Given the description of an element on the screen output the (x, y) to click on. 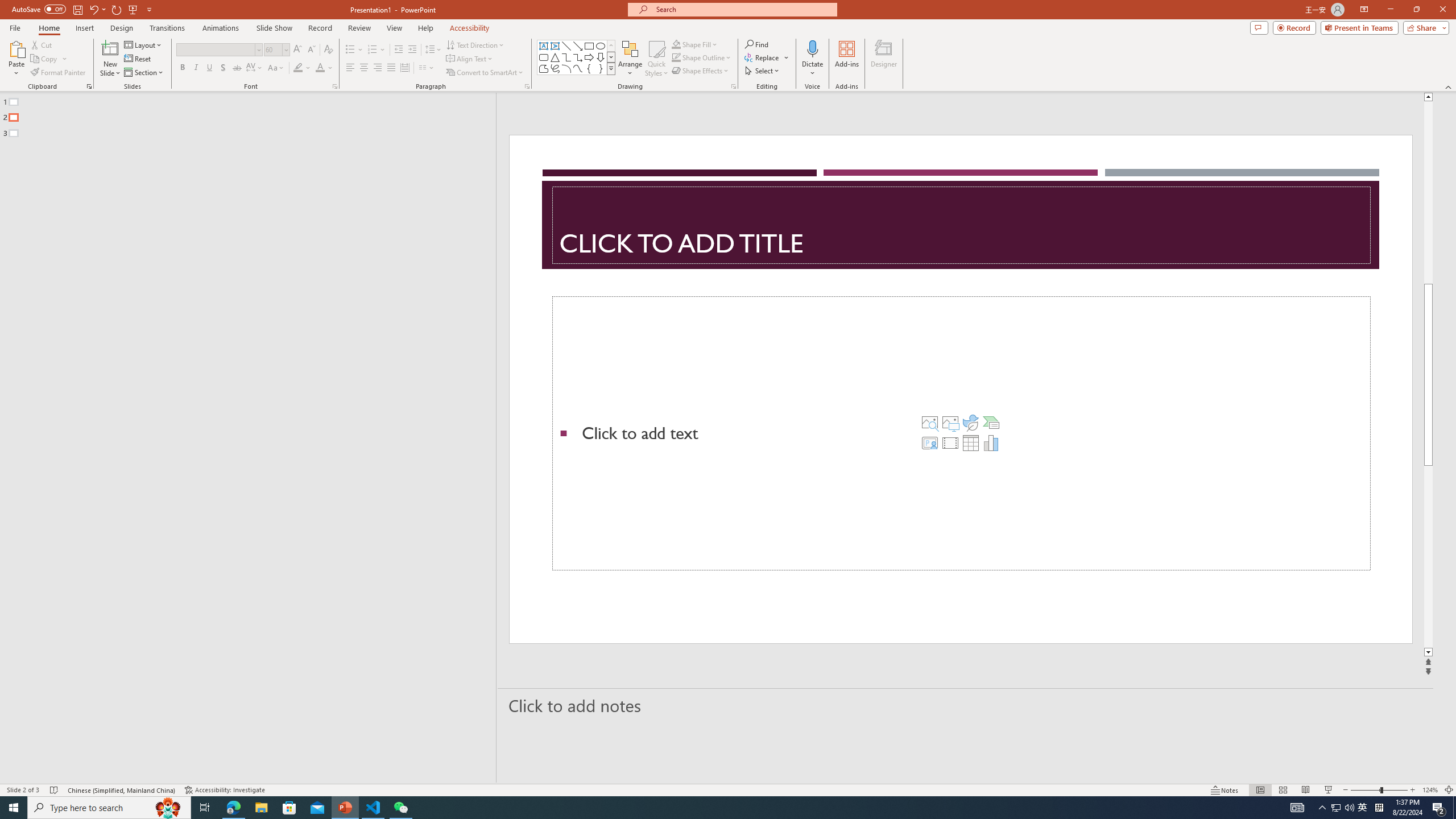
Insert Table (970, 443)
Stock Images (929, 422)
Shape Outline Blue, Accent 1 (675, 56)
